Given the description of an element on the screen output the (x, y) to click on. 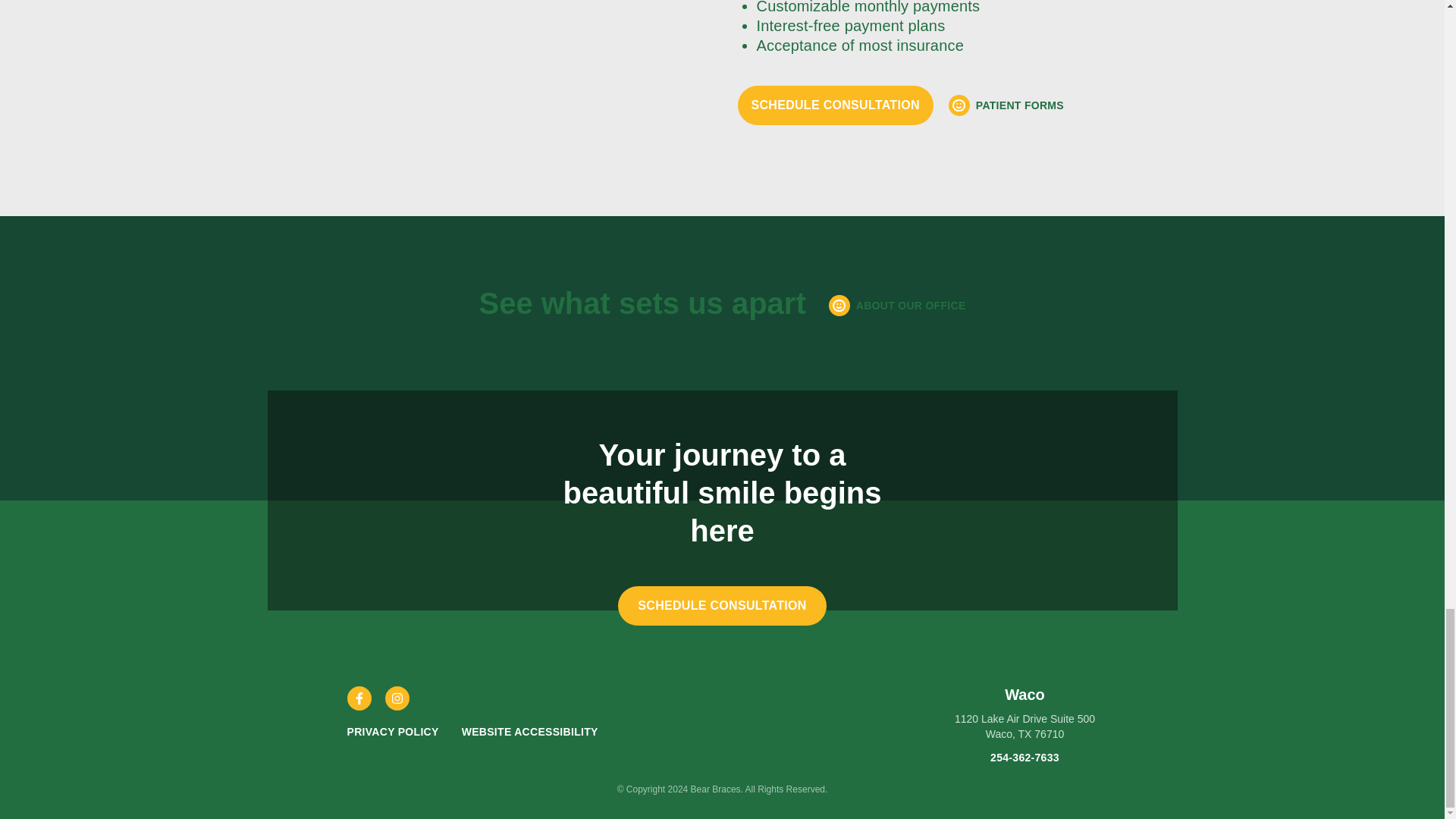
SCHEDULE CONSULTATION (722, 605)
SCHEDULE CONSULTATION (834, 105)
ABOUT OUR OFFICE (897, 305)
PATIENT FORMS (1006, 105)
